Given the description of an element on the screen output the (x, y) to click on. 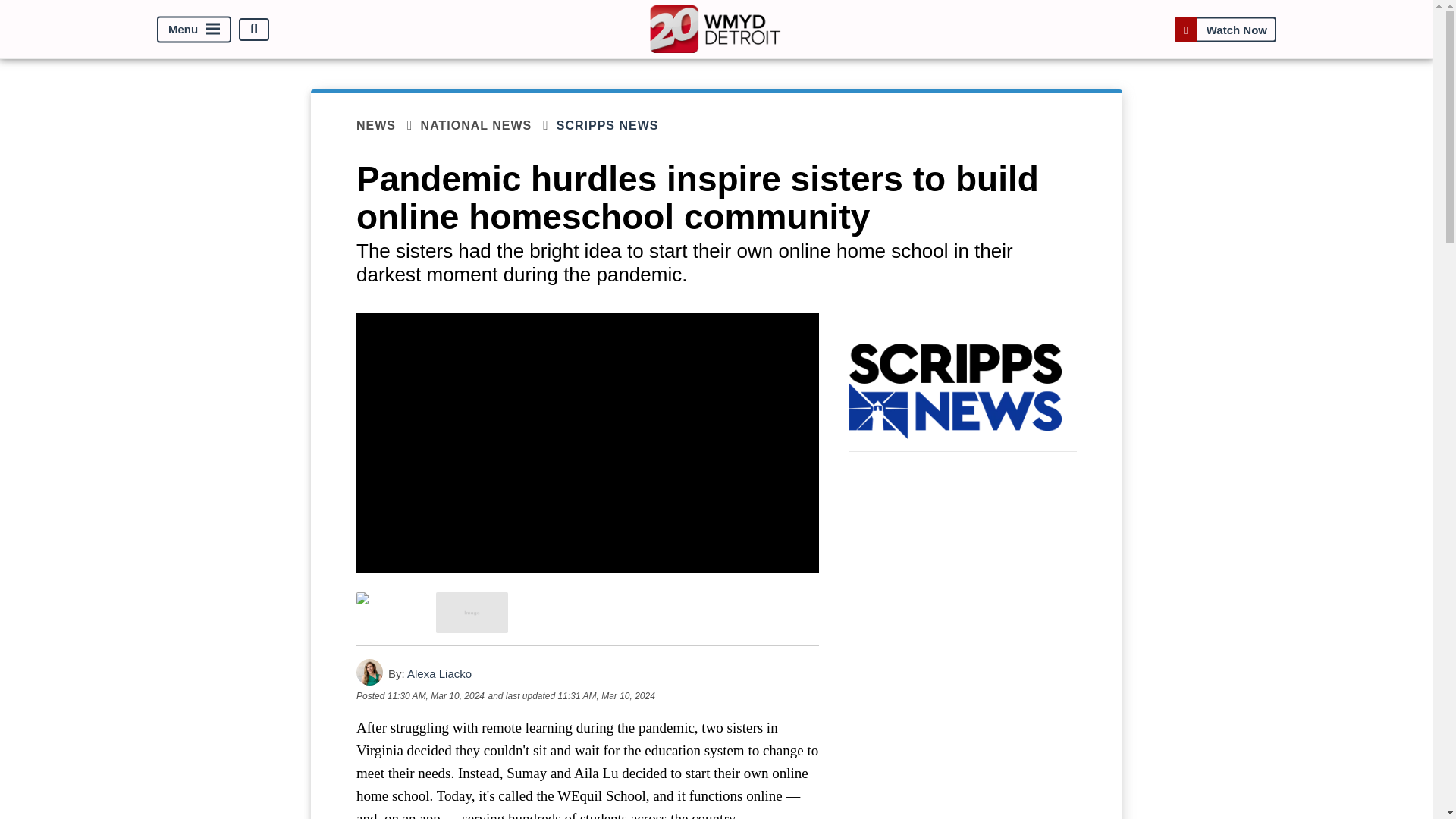
Menu (194, 28)
Watch Now (1224, 29)
SCRIPPS NEWS (617, 125)
Alexa Liacko (439, 673)
NEWS (388, 125)
NATIONAL NEWS (488, 125)
